Given the description of an element on the screen output the (x, y) to click on. 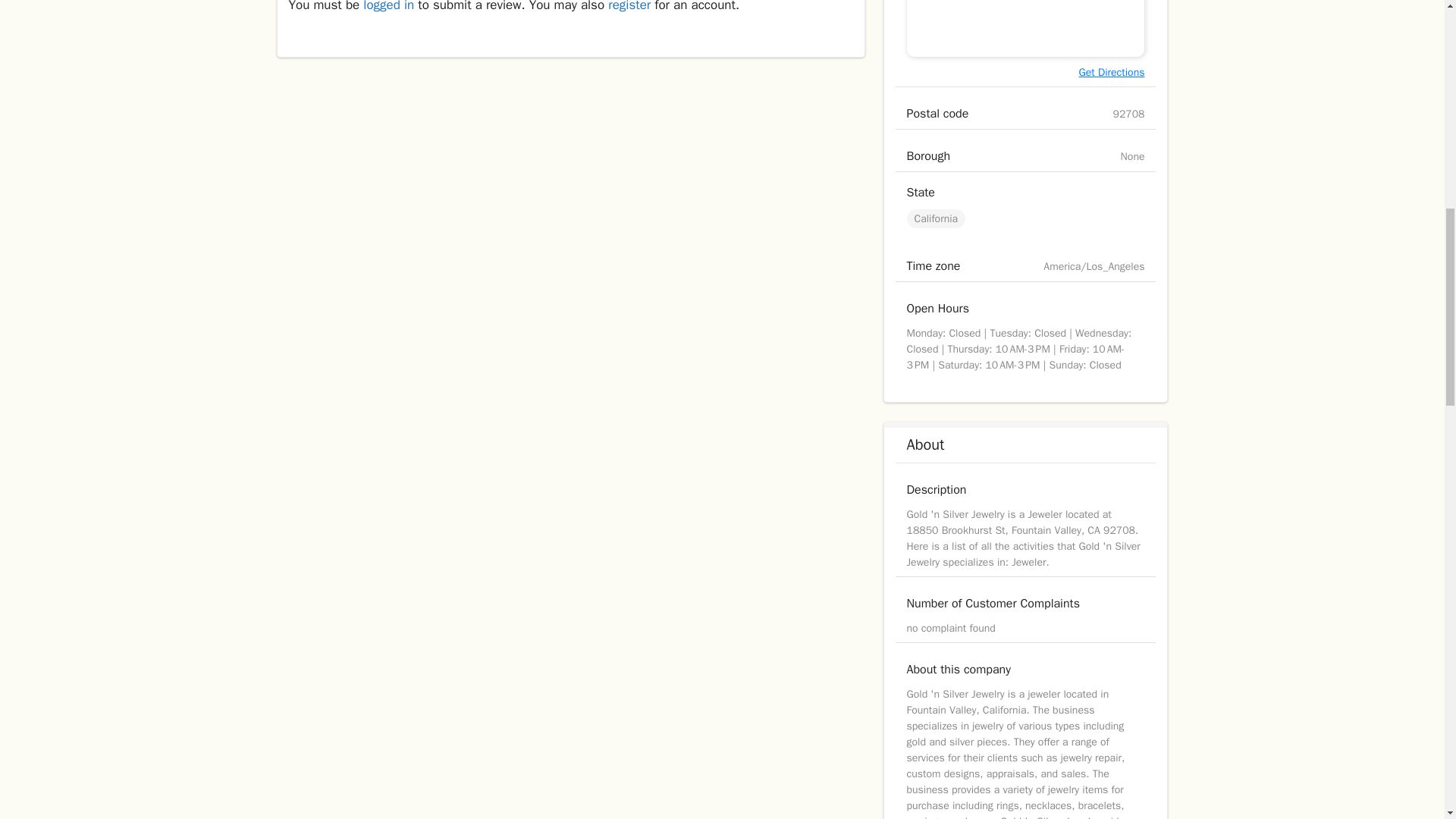
register (629, 6)
Scroll back to top (1406, 720)
California (936, 218)
logged in (387, 6)
Get Directions (1111, 72)
